Given the description of an element on the screen output the (x, y) to click on. 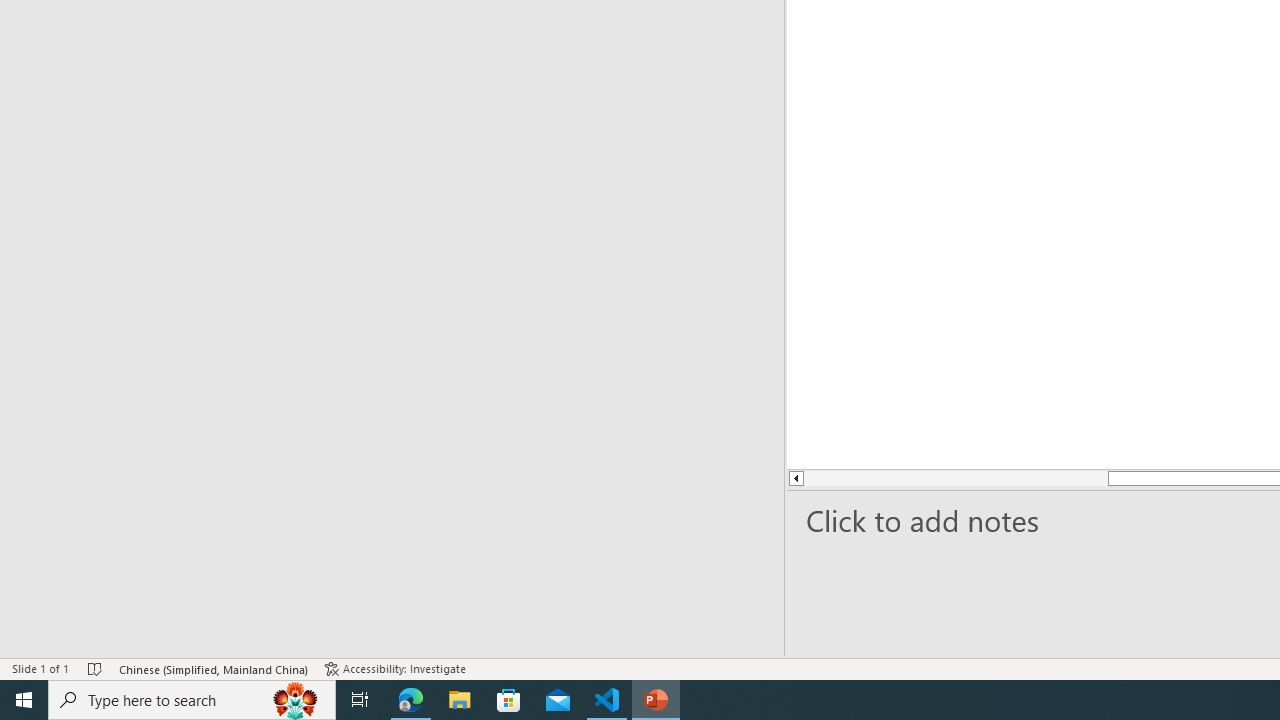
Page up (868, 478)
